Given the description of an element on the screen output the (x, y) to click on. 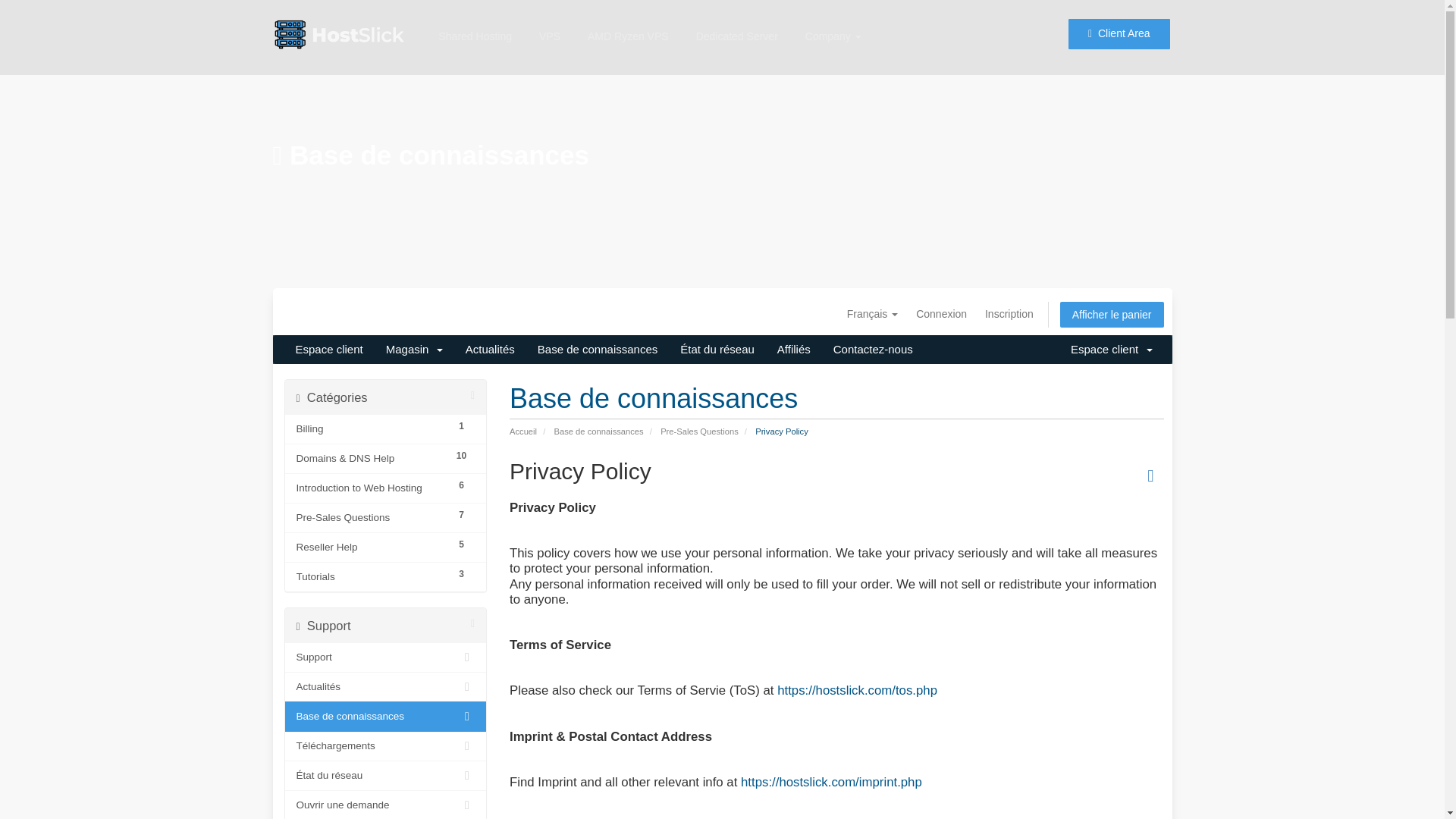
VPS (549, 19)
Pre-Sales Questions (370, 517)
AMD Ryzen VPS (627, 22)
Dedicated Server (737, 22)
  Client Area (1118, 26)
Tutorials (370, 577)
Billing (370, 429)
  Client Area (1118, 22)
Reseller Help (370, 547)
Shared Hosting (475, 17)
